Given the description of an element on the screen output the (x, y) to click on. 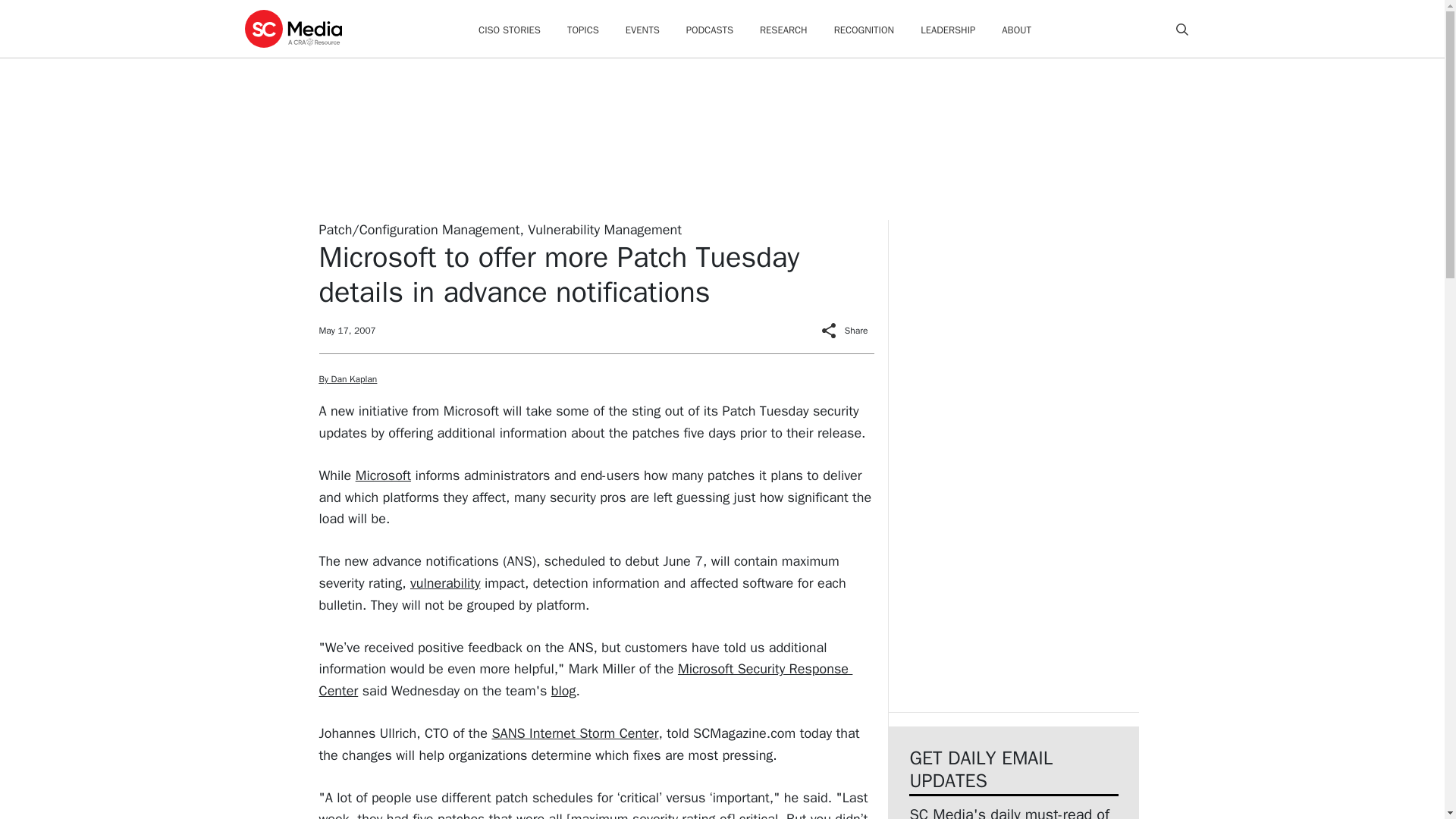
Vulnerability Management (604, 229)
Microsoft Security Response Center (584, 679)
EVENTS (642, 30)
CISO STORIES (509, 30)
RESEARCH (784, 30)
PODCASTS (709, 30)
blog (563, 690)
LEADERSHIP (947, 30)
vulnerability (445, 582)
TOPICS (582, 30)
ABOUT (1015, 30)
SC Media (292, 27)
RECOGNITION (863, 30)
SANS Internet Storm Center (575, 733)
Microsoft (382, 475)
